Given the description of an element on the screen output the (x, y) to click on. 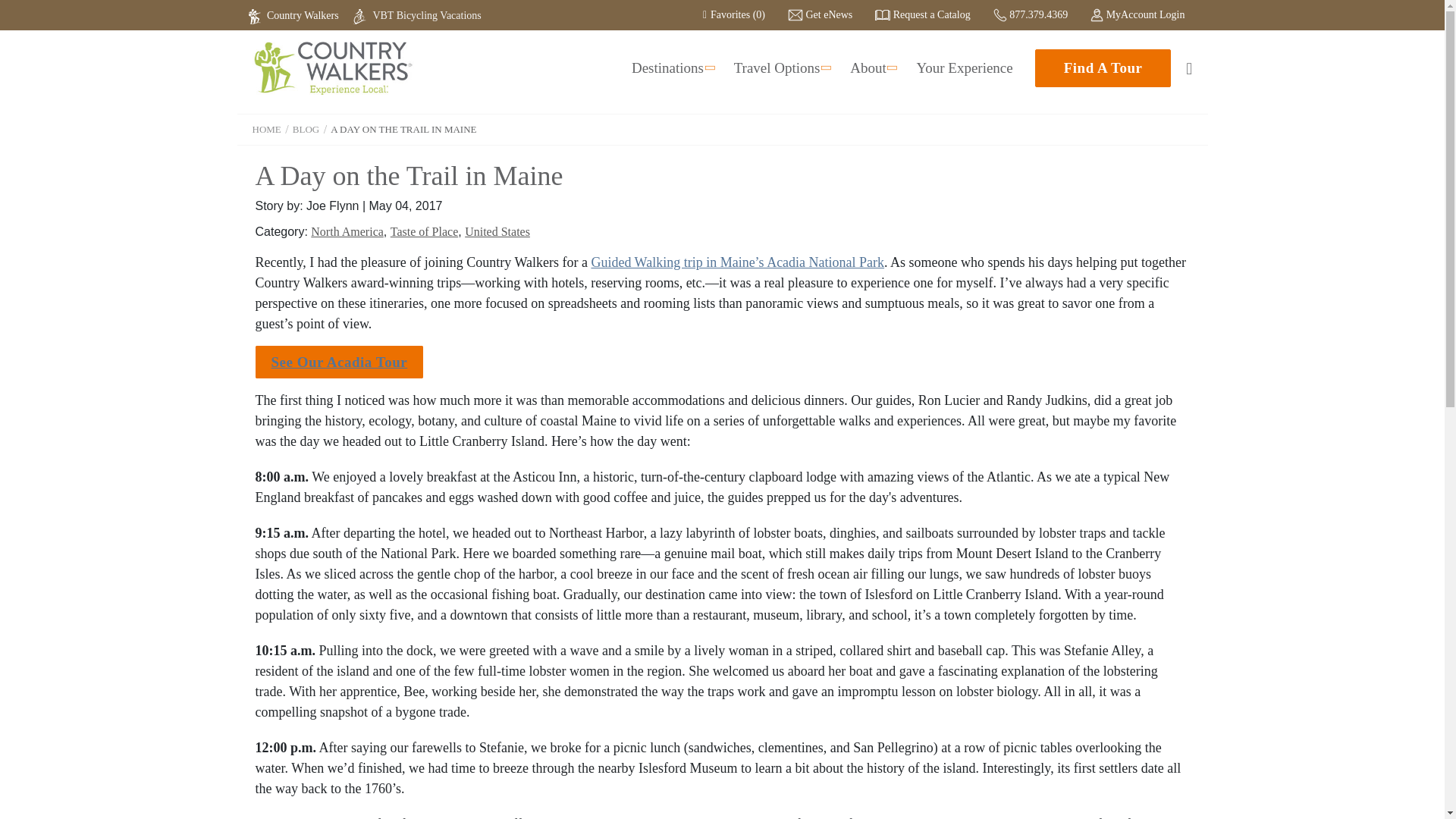
Travel Options (781, 67)
Get eNews (819, 14)
View You Favorite Tours (734, 14)
VBT Bicycling Vacations (416, 15)
Home (331, 68)
Reservations (819, 14)
Your Experience (963, 67)
Country Walkers (295, 15)
Request a Catalog (922, 14)
VBT Bicycling Vacations (416, 15)
